Given the description of an element on the screen output the (x, y) to click on. 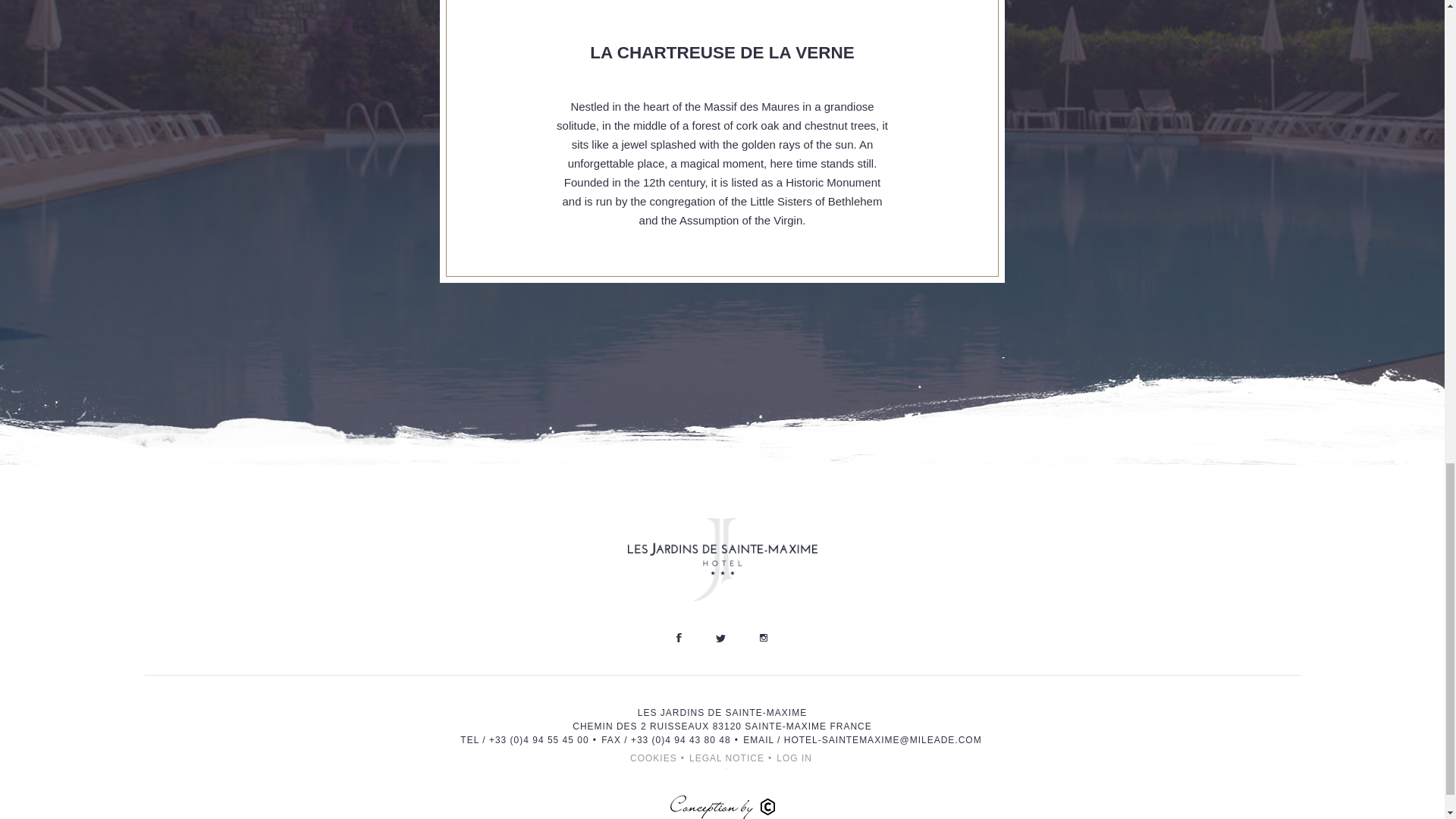
LOG IN (794, 757)
LEGAL NOTICE (726, 757)
COOKIES (653, 757)
